Given the description of an element on the screen output the (x, y) to click on. 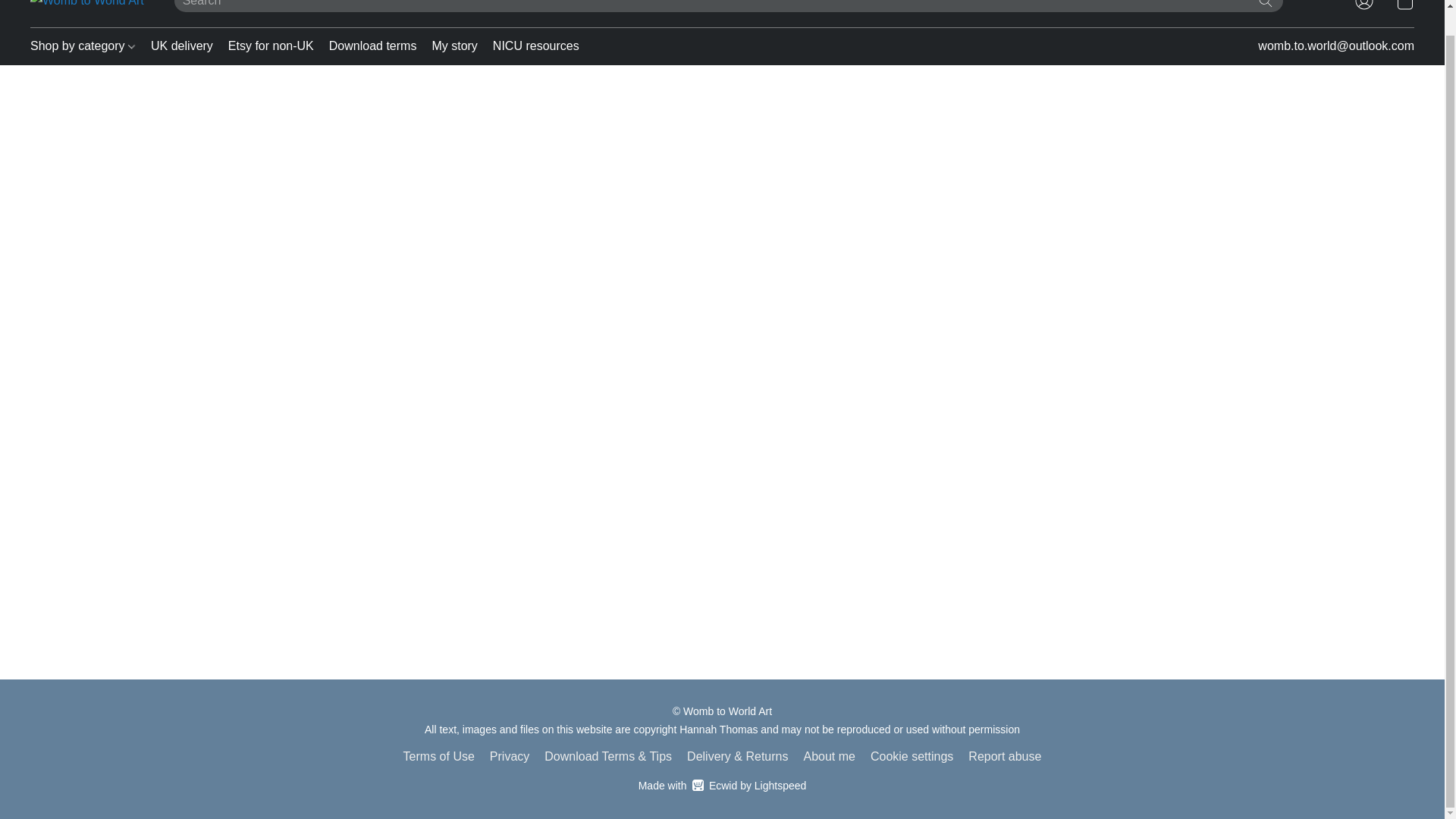
My story (722, 785)
Privacy (453, 45)
About me (509, 756)
UK delivery (828, 756)
Terms of Use (181, 45)
Etsy for non-UK (438, 756)
NICU resources (271, 45)
Report abuse (531, 45)
Cookie settings (1004, 756)
